Given the description of an element on the screen output the (x, y) to click on. 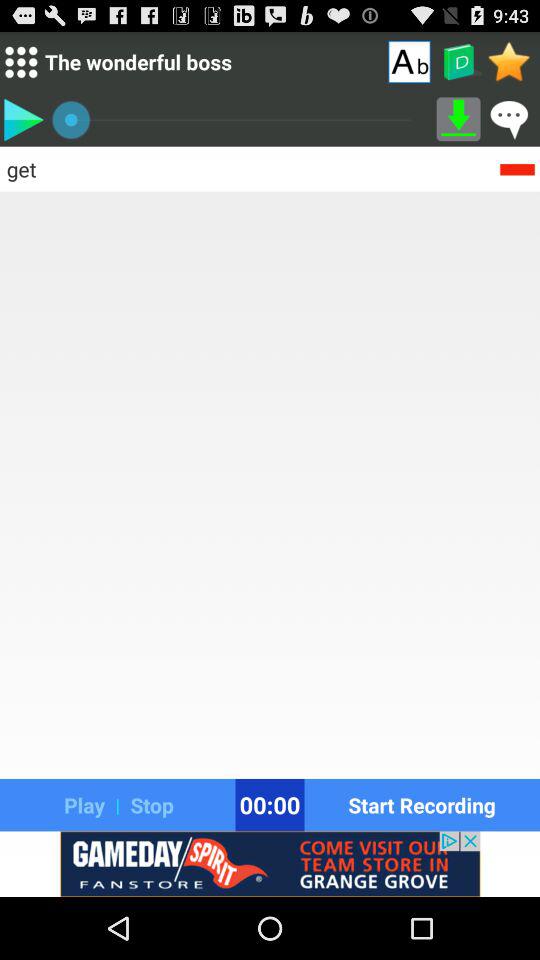
go to menu (20, 61)
